Given the description of an element on the screen output the (x, y) to click on. 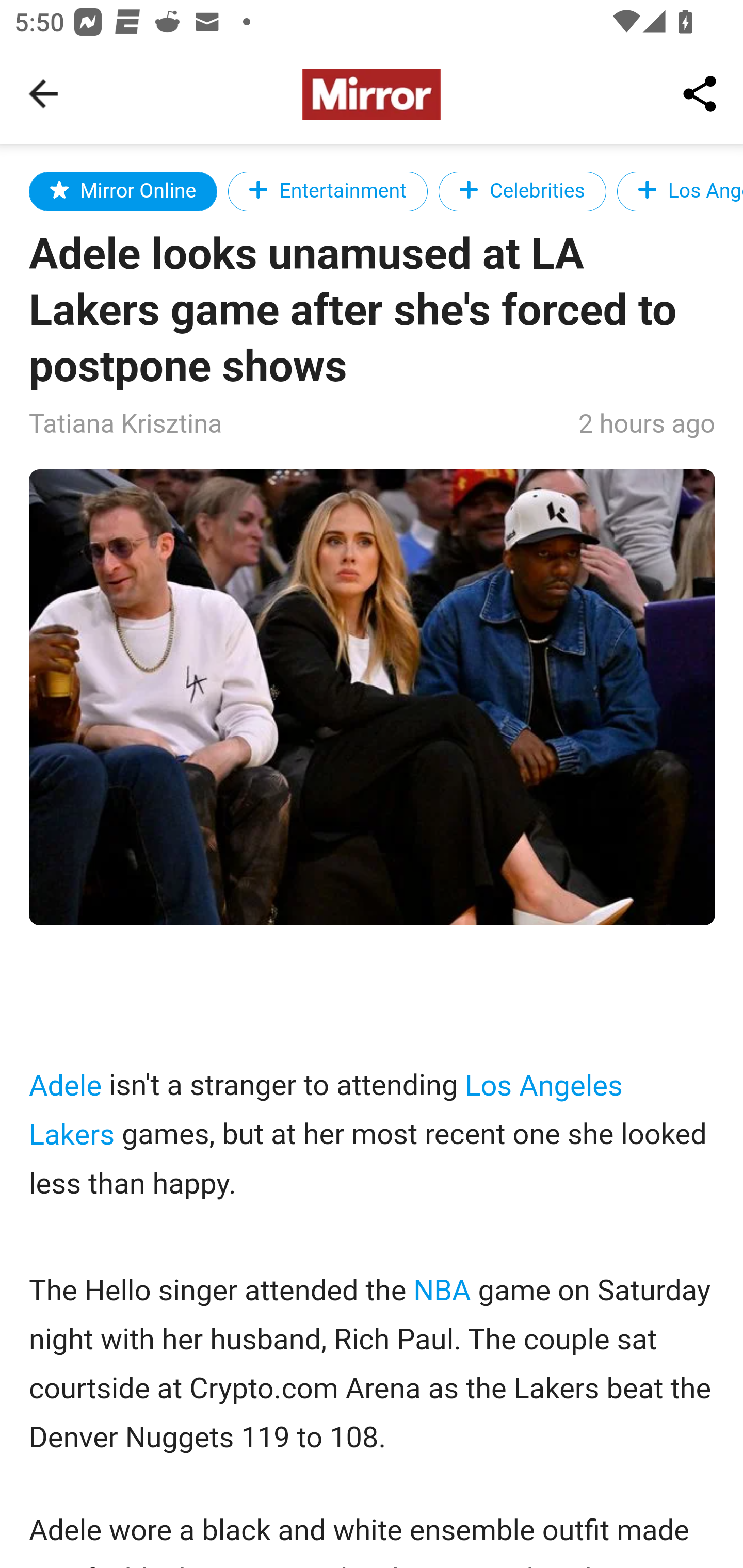
Mirror Online (123, 191)
Entertainment (327, 191)
Celebrities (521, 191)
Los Angeles Lakers (679, 191)
Adele (65, 1084)
Los Angeles Lakers (325, 1109)
NBA (441, 1289)
